Given the description of an element on the screen output the (x, y) to click on. 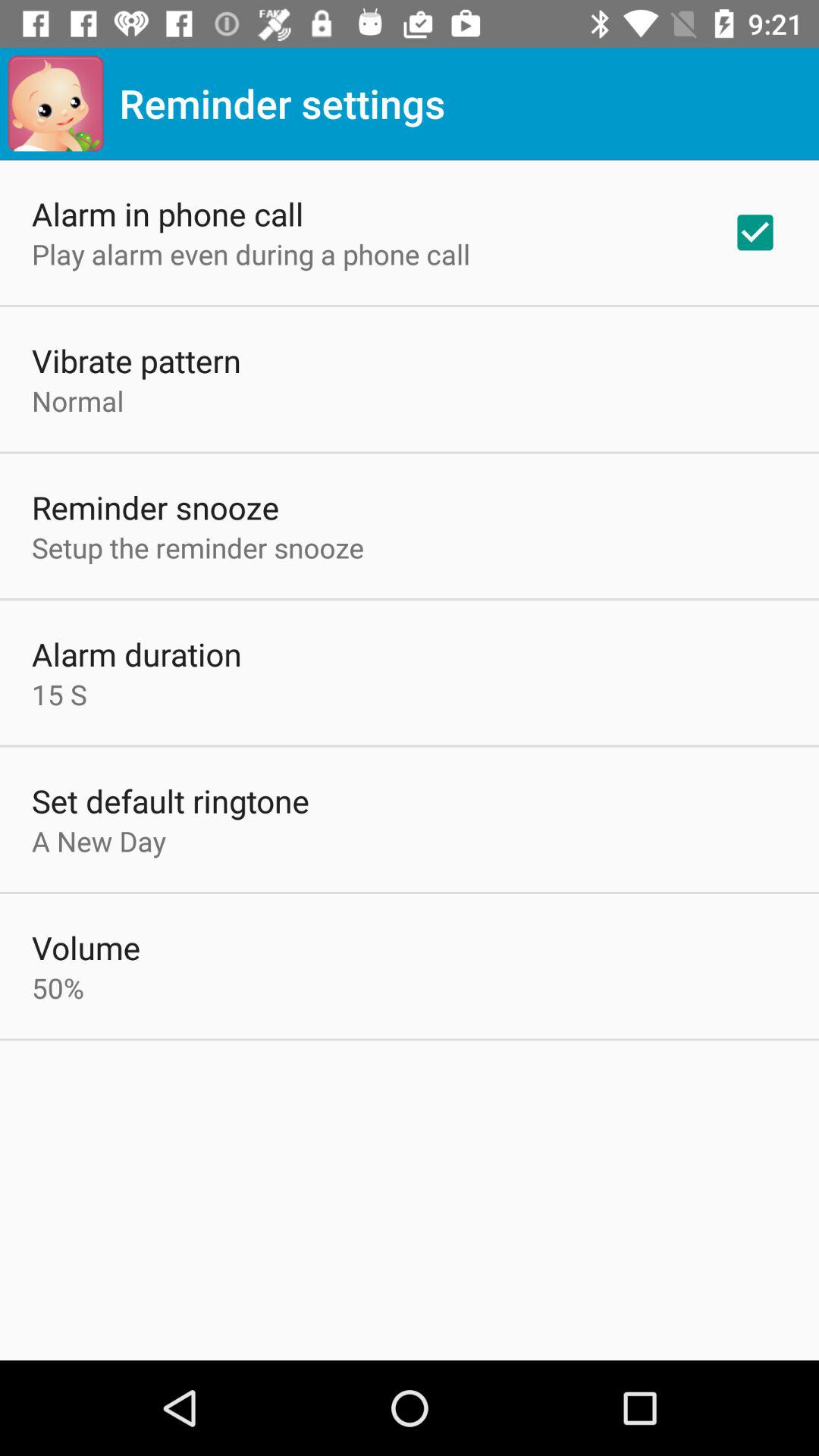
scroll to vibrate pattern app (136, 360)
